Given the description of an element on the screen output the (x, y) to click on. 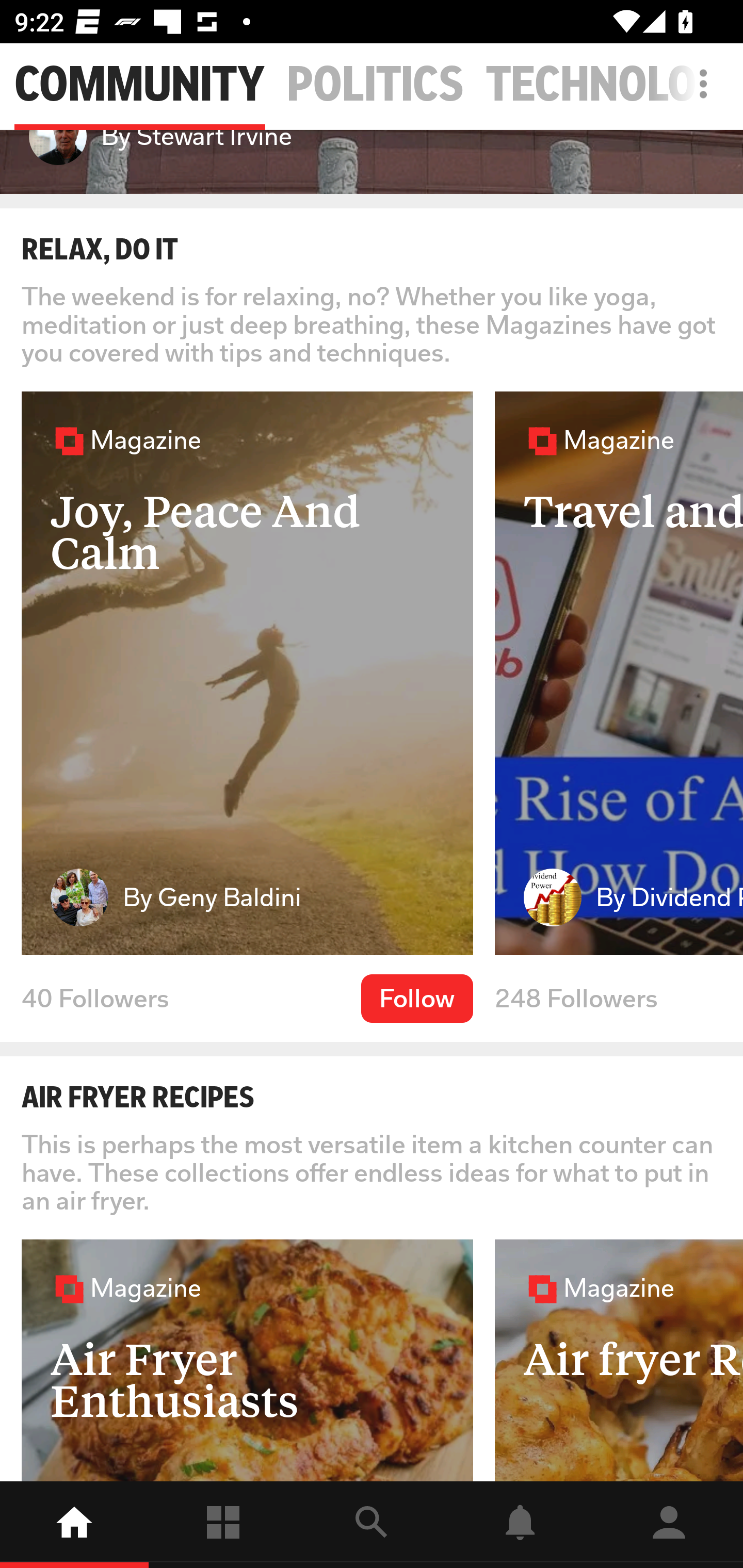
COMMUNITY (139, 84)
POLITICS (375, 84)
TECHNOLOGY (614, 84)
Edit Home (697, 83)
Follow (417, 997)
home (74, 1524)
Following (222, 1524)
explore (371, 1524)
Notifications (519, 1524)
Profile (668, 1524)
